Given the description of an element on the screen output the (x, y) to click on. 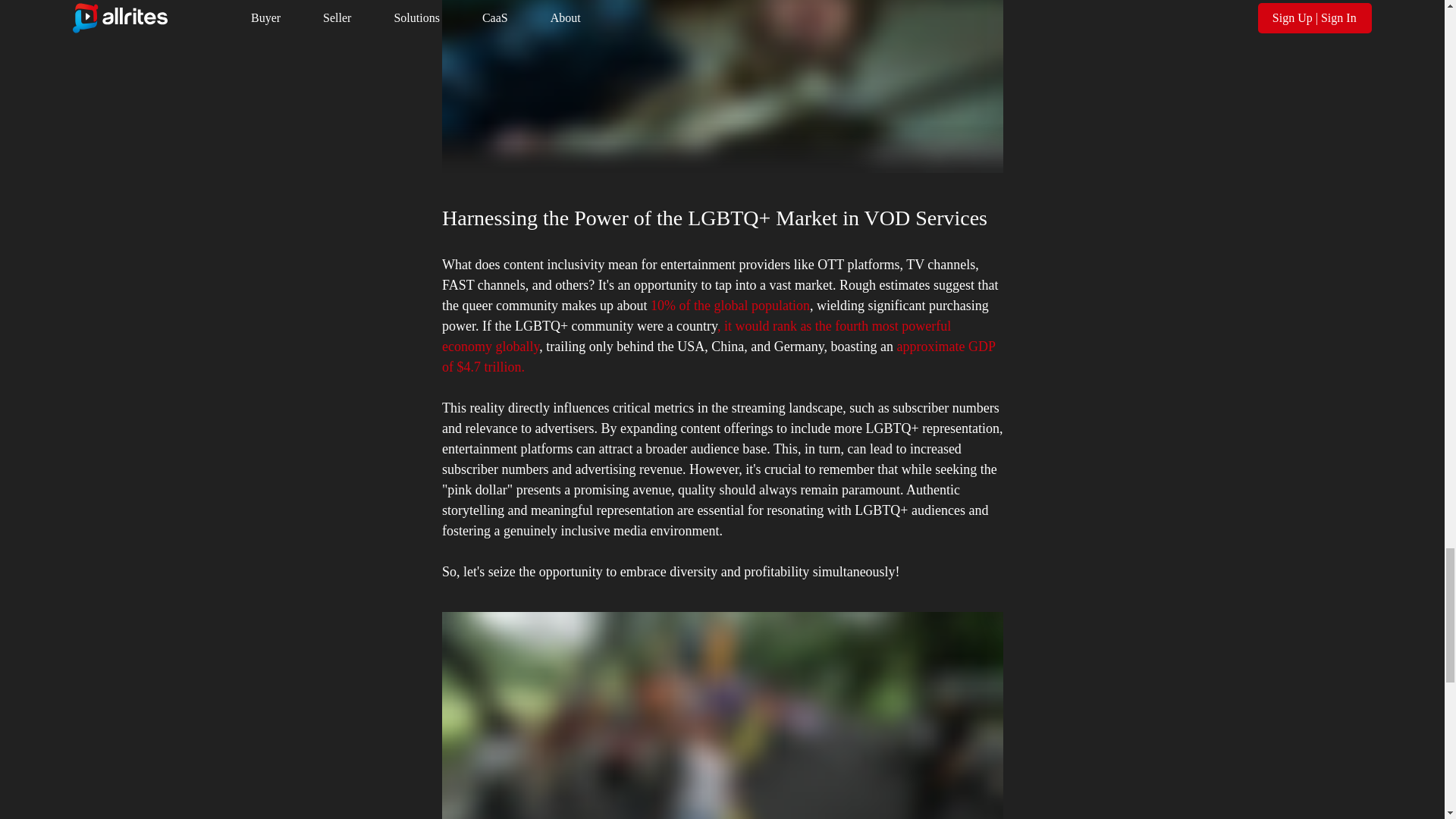
, it would rank as the fourth most powerful economy globally (697, 335)
